Given the description of an element on the screen output the (x, y) to click on. 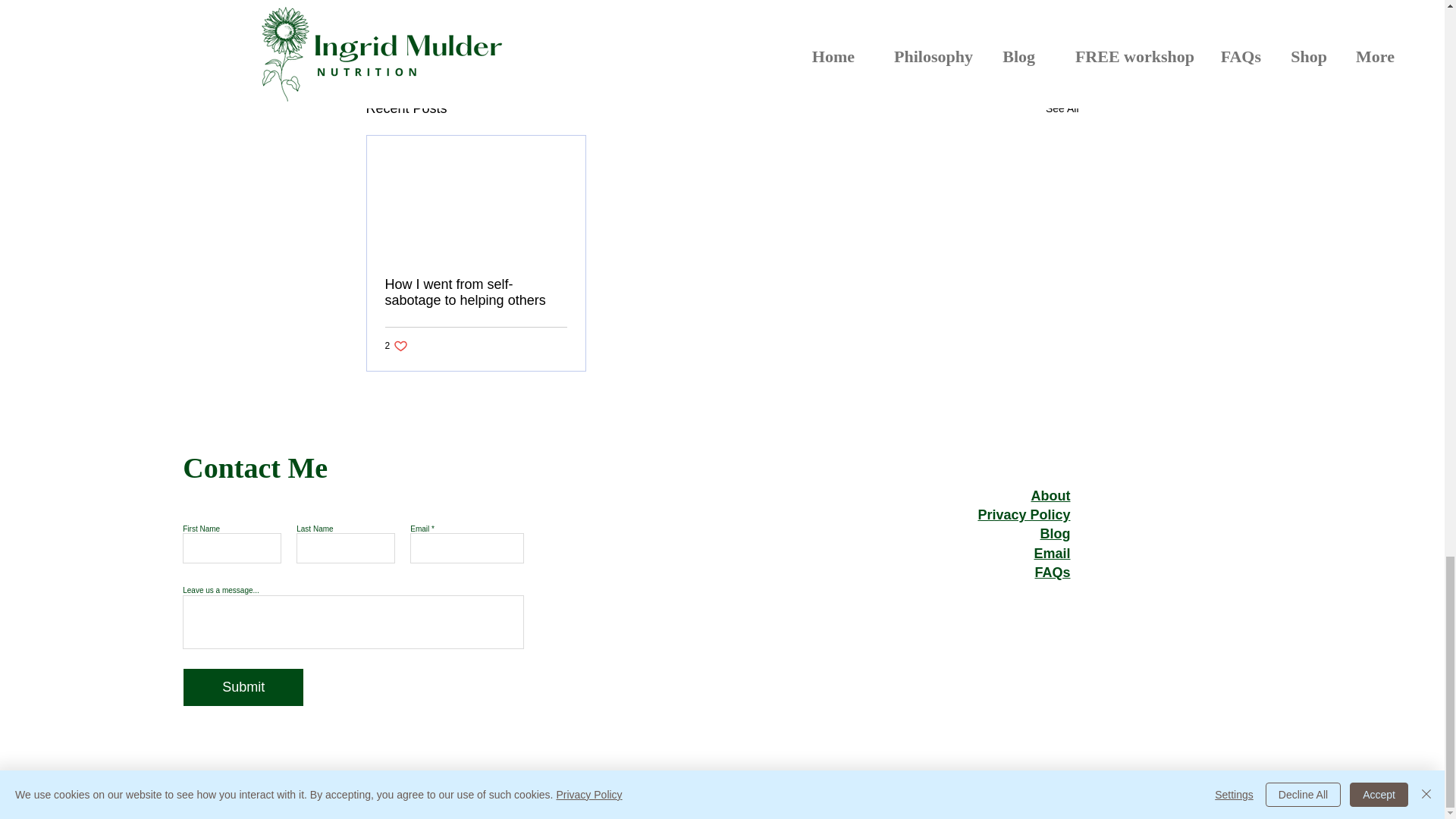
Blog (1055, 533)
Email (1051, 553)
See All (1061, 108)
Privacy Policy (1023, 514)
FAQs (1051, 572)
About (397, 345)
How I went from self-sabotage to helping others (990, 26)
Submit (1050, 495)
